Given the description of an element on the screen output the (x, y) to click on. 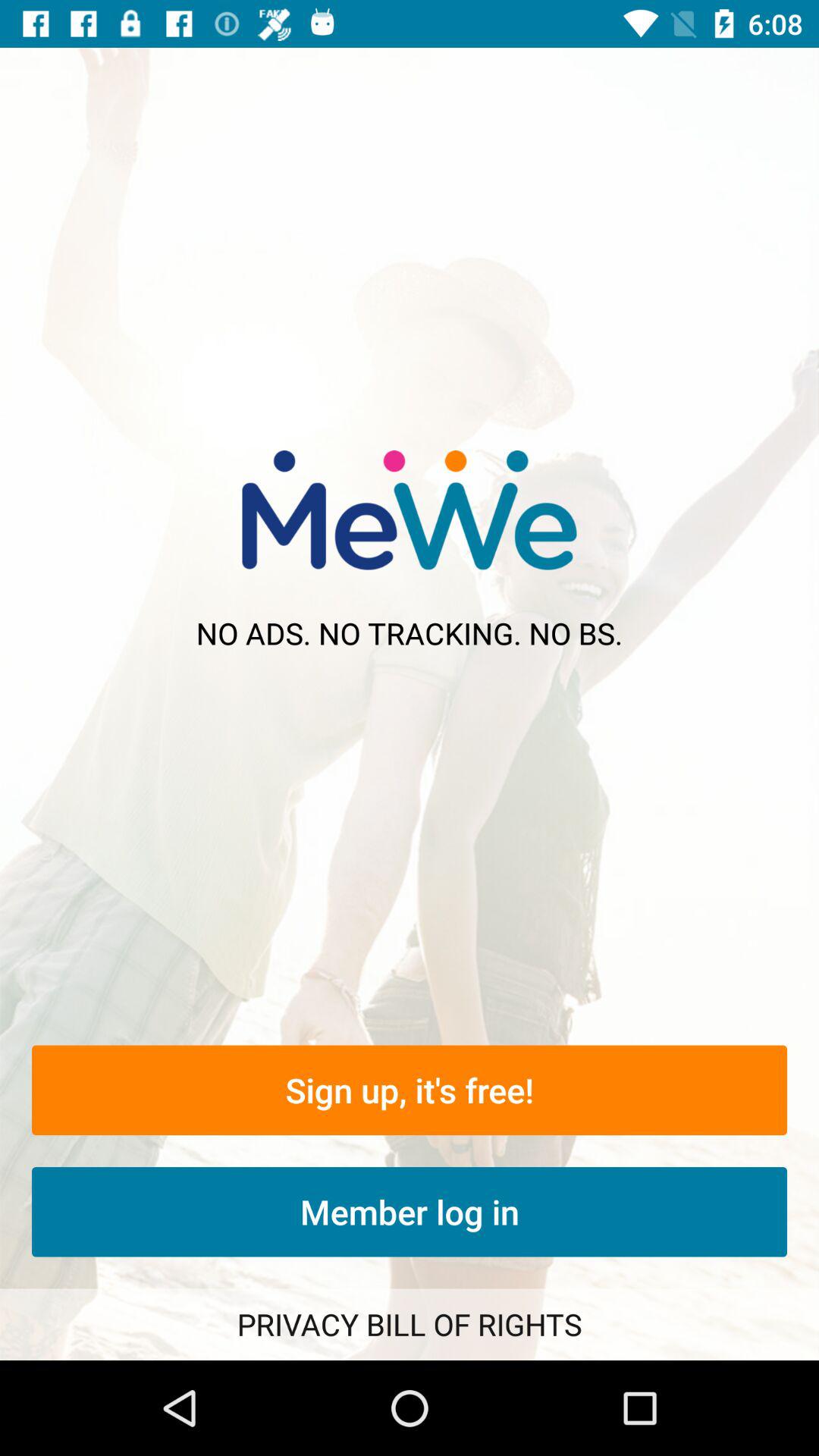
select the item below the sign up it (409, 1211)
